Given the description of an element on the screen output the (x, y) to click on. 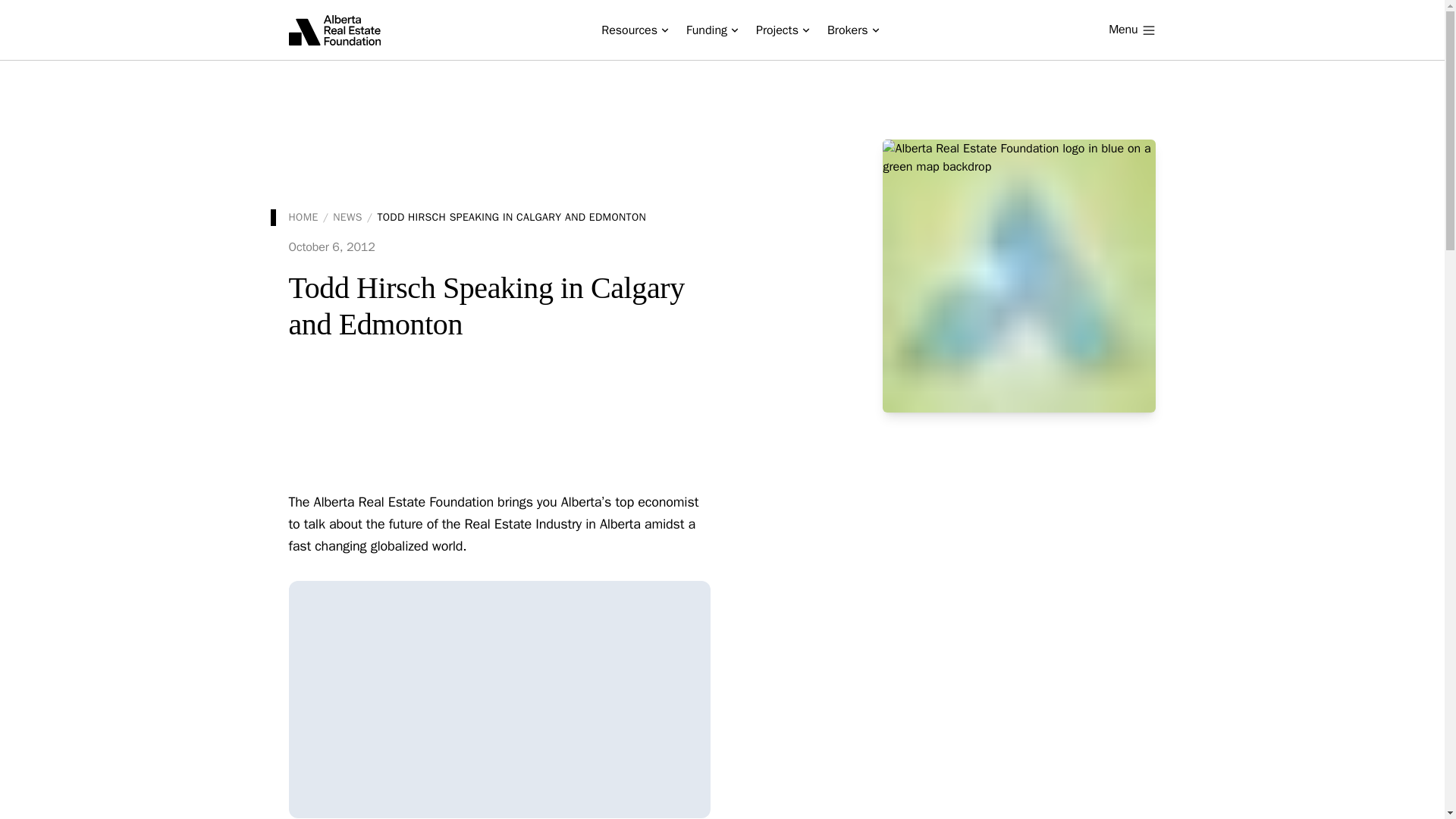
Resources (634, 30)
Menu (1131, 30)
HOME (302, 216)
Projects (782, 30)
YouTube video player (499, 699)
Brokers (853, 30)
Funding (711, 30)
NEWS (347, 216)
